Given the description of an element on the screen output the (x, y) to click on. 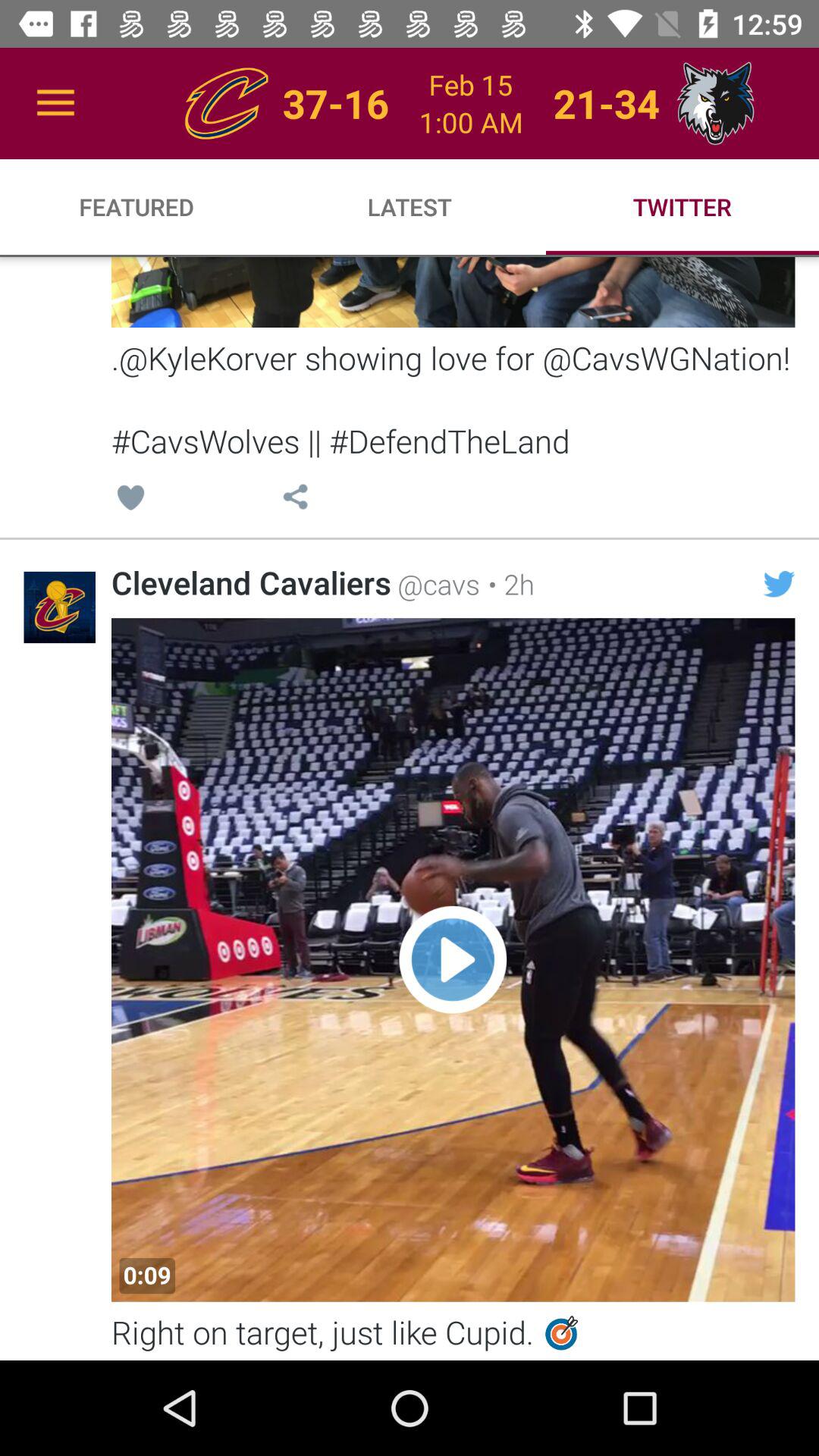
launch the @cavs (435, 583)
